Given the description of an element on the screen output the (x, y) to click on. 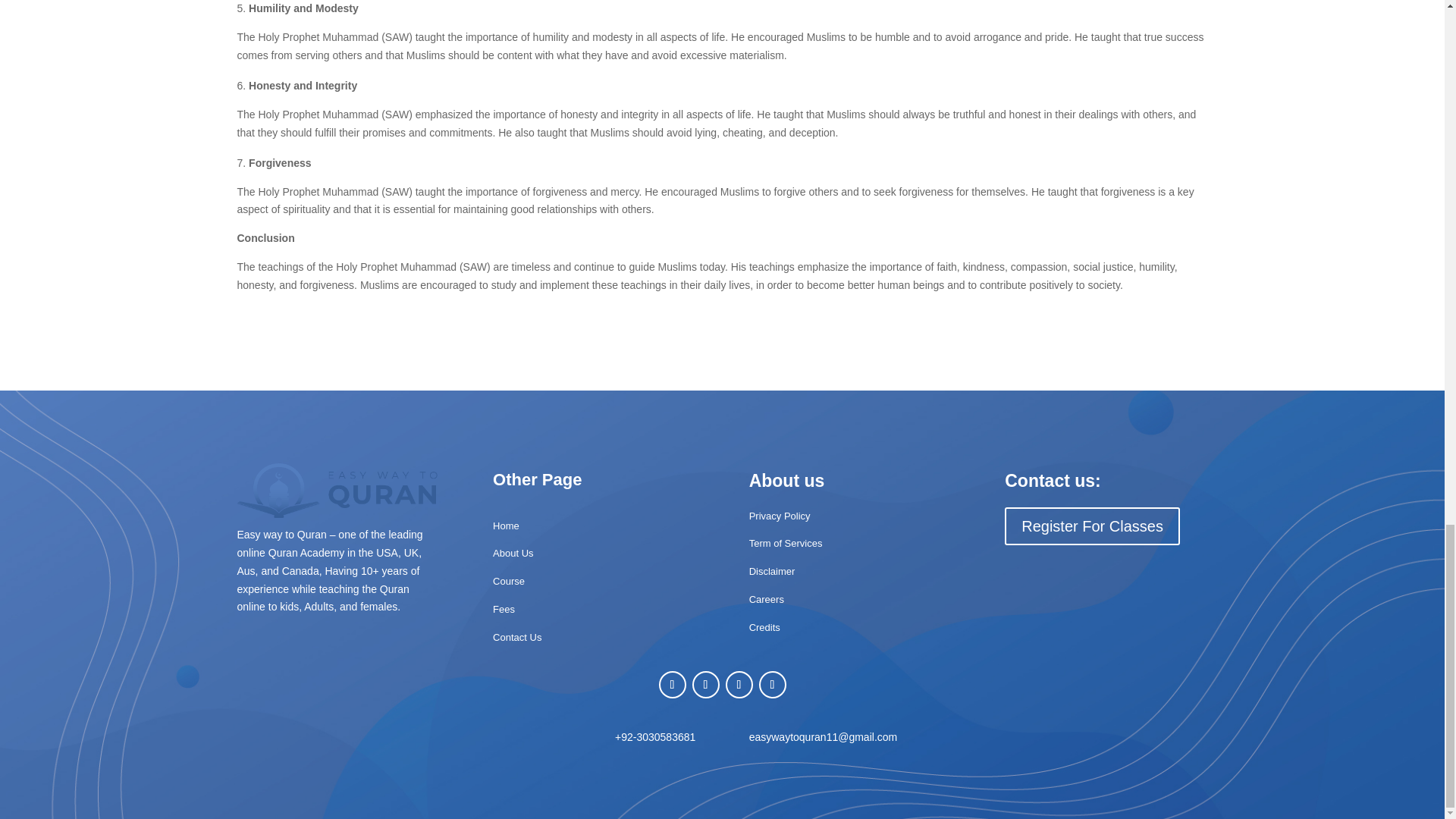
Follow on X (705, 684)
Logo-Design-Final-for-Web (337, 490)
Follow on Youtube (772, 684)
Follow on Facebook (671, 684)
Follow on Instagram (738, 684)
